Given the description of an element on the screen output the (x, y) to click on. 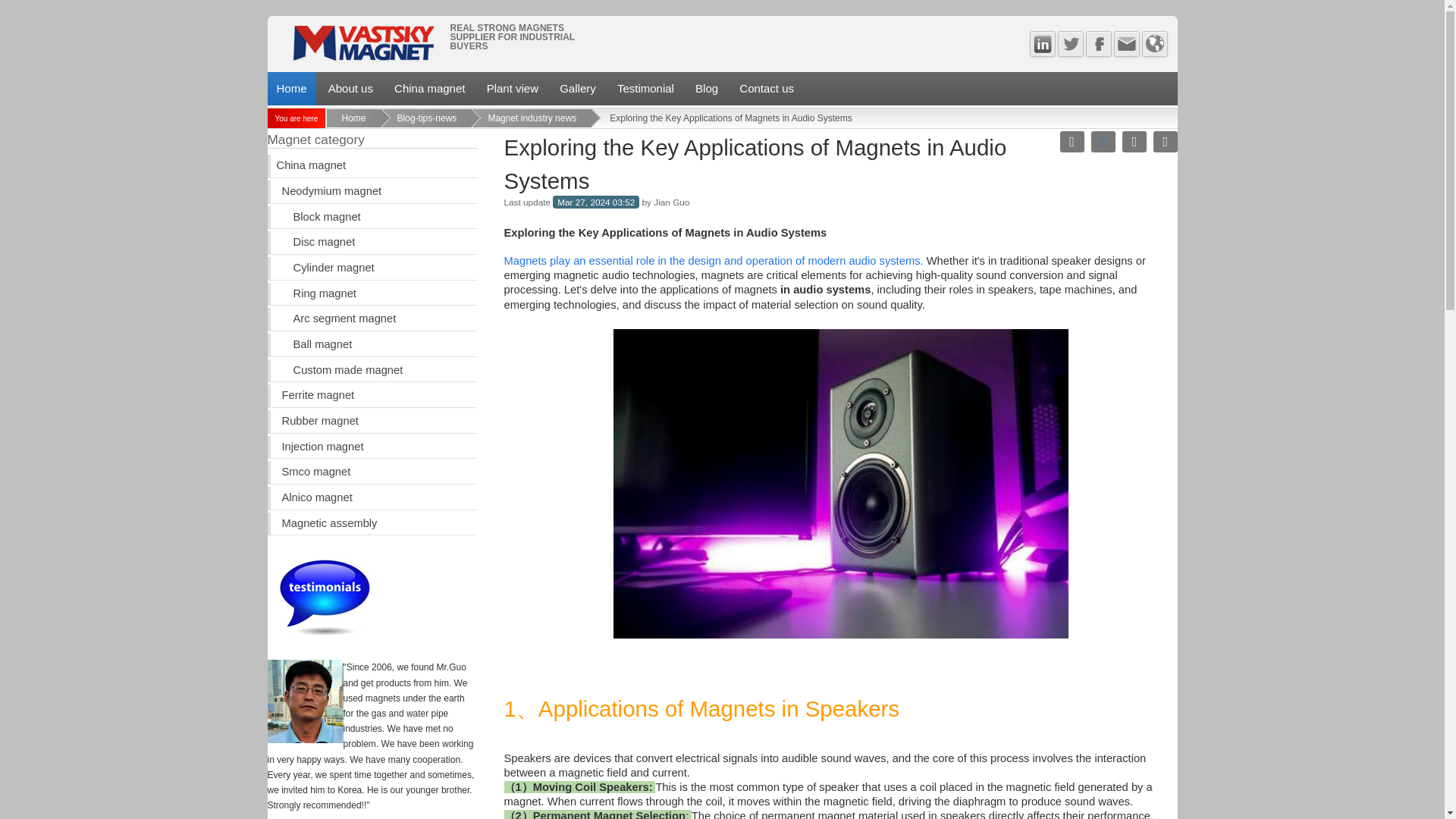
Language (1154, 43)
China magnet (429, 88)
Testimonial (645, 88)
Gallery (577, 88)
Linked In (1042, 43)
Home (290, 88)
China magnet (429, 88)
Blog (705, 88)
Twitter (1070, 43)
Contact (1125, 43)
